Given the description of an element on the screen output the (x, y) to click on. 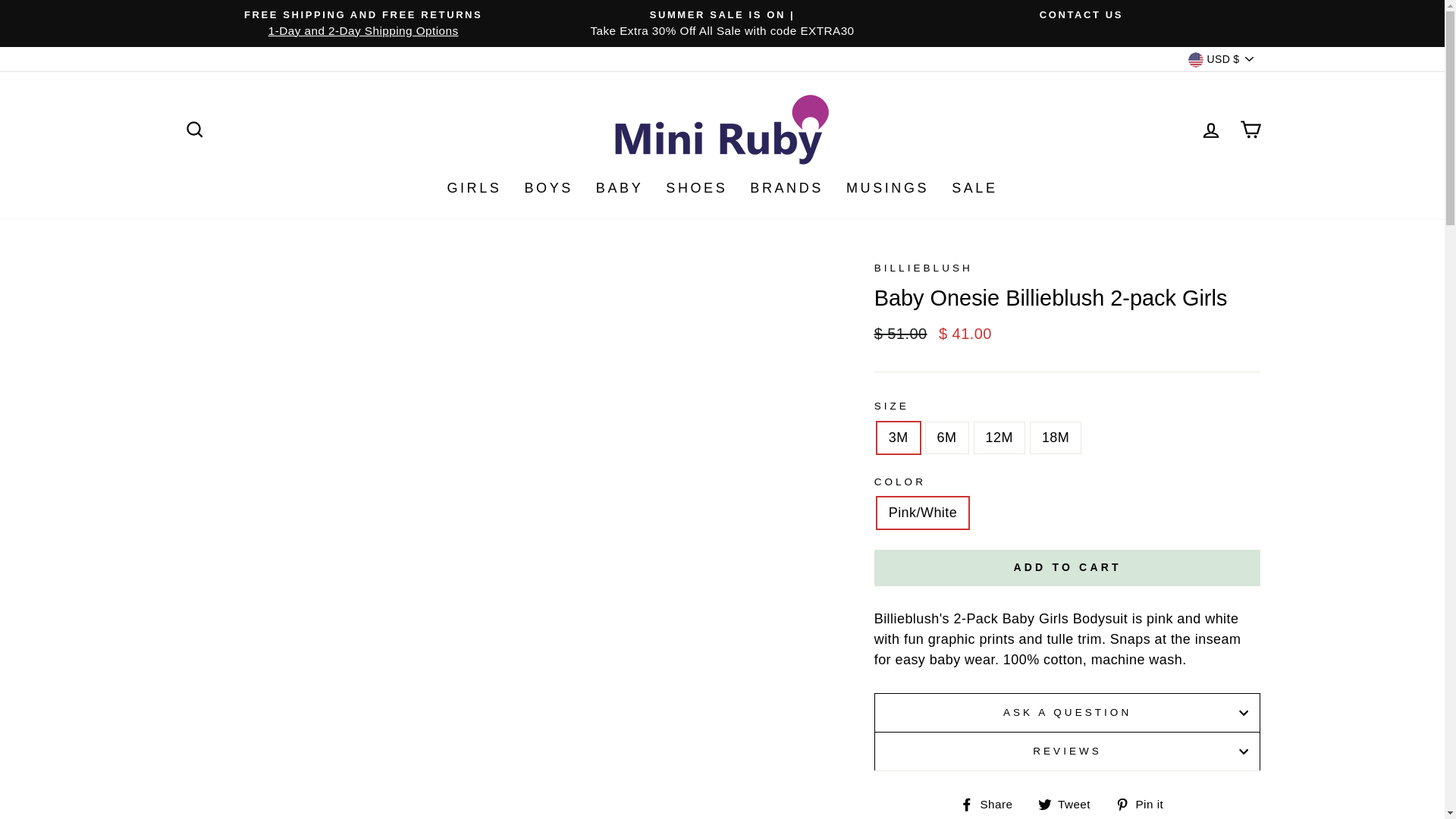
Baby, Baby Clothes, Baby Onesies, Baby Bodysuits, Baby Gifts (945, 660)
Share on Facebook (992, 803)
Billieblush 2-Pack Baby Girls Bodysuits  (1039, 619)
Pin on Pinterest (1144, 803)
Tweet on Twitter (1069, 803)
